Given the description of an element on the screen output the (x, y) to click on. 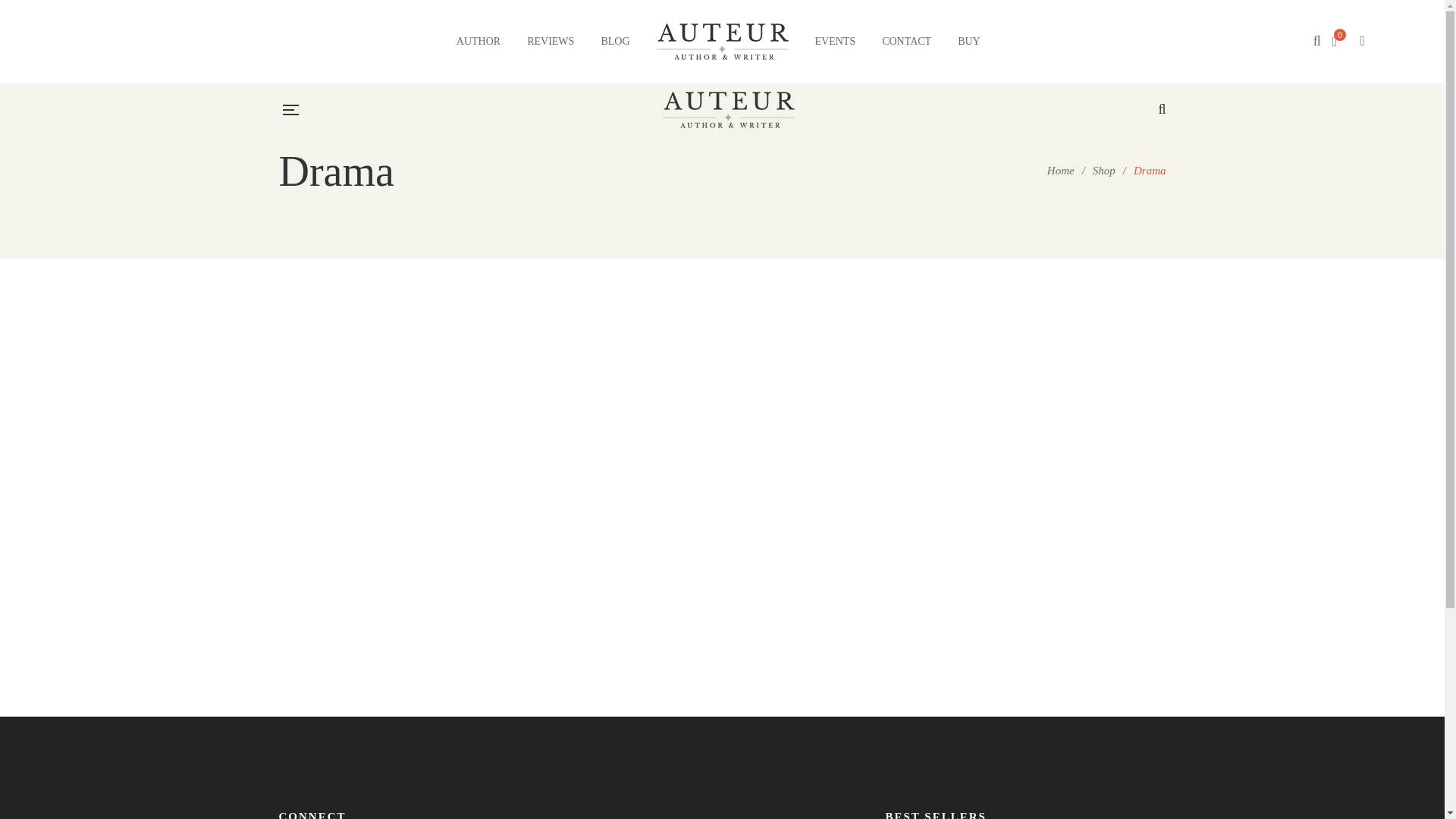
REVIEWS (550, 41)
CONTACT (906, 41)
Shop (1104, 170)
AUTHOR (478, 41)
EVENTS (834, 41)
0 (1340, 41)
Home (1060, 170)
